Given the description of an element on the screen output the (x, y) to click on. 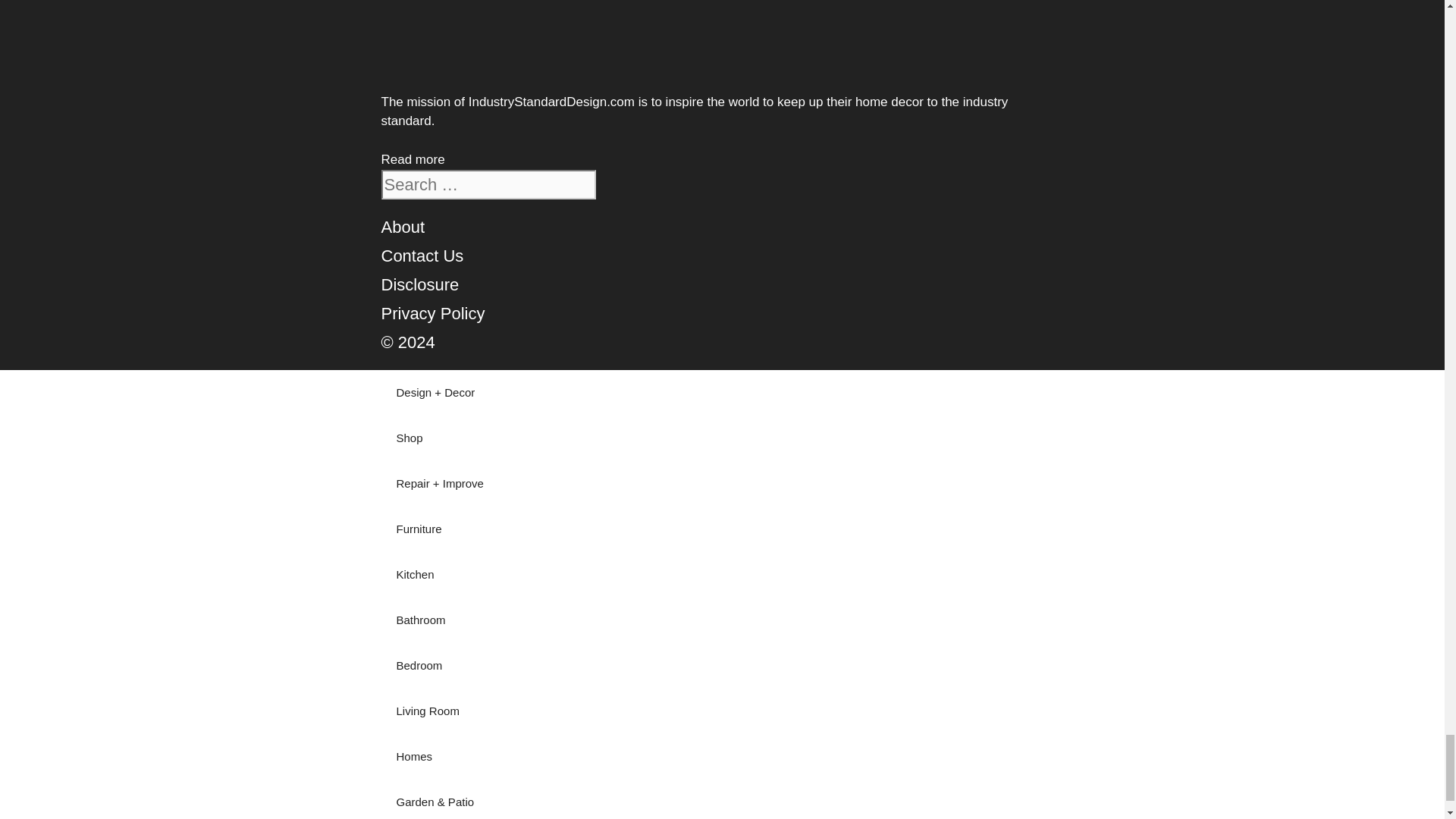
Search for: (487, 184)
Read more (412, 159)
